Given the description of an element on the screen output the (x, y) to click on. 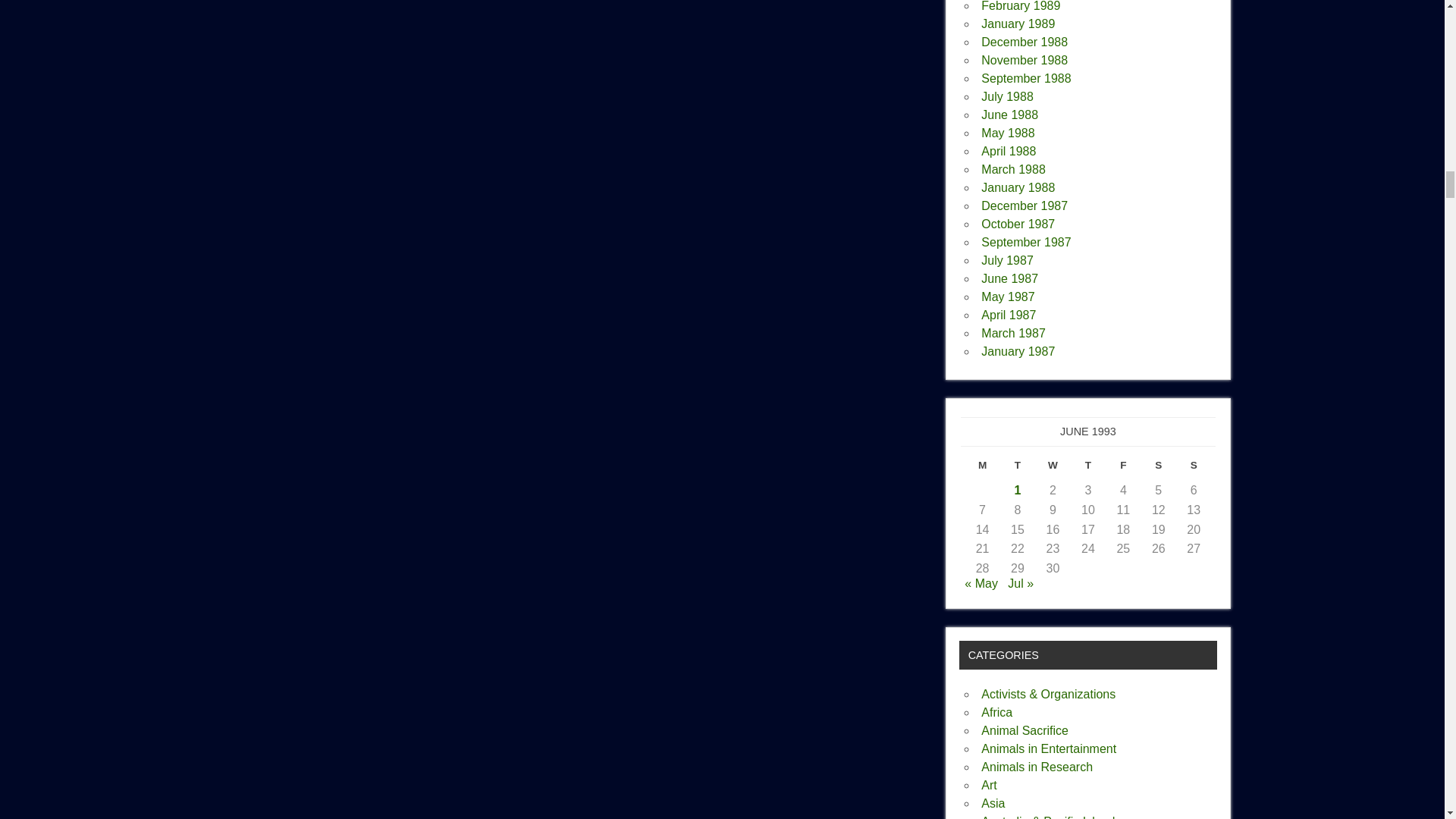
Wednesday (1052, 468)
Tuesday (1017, 468)
Sunday (1193, 468)
Monday (980, 468)
Saturday (1158, 468)
Friday (1122, 468)
Thursday (1087, 468)
